Given the description of an element on the screen output the (x, y) to click on. 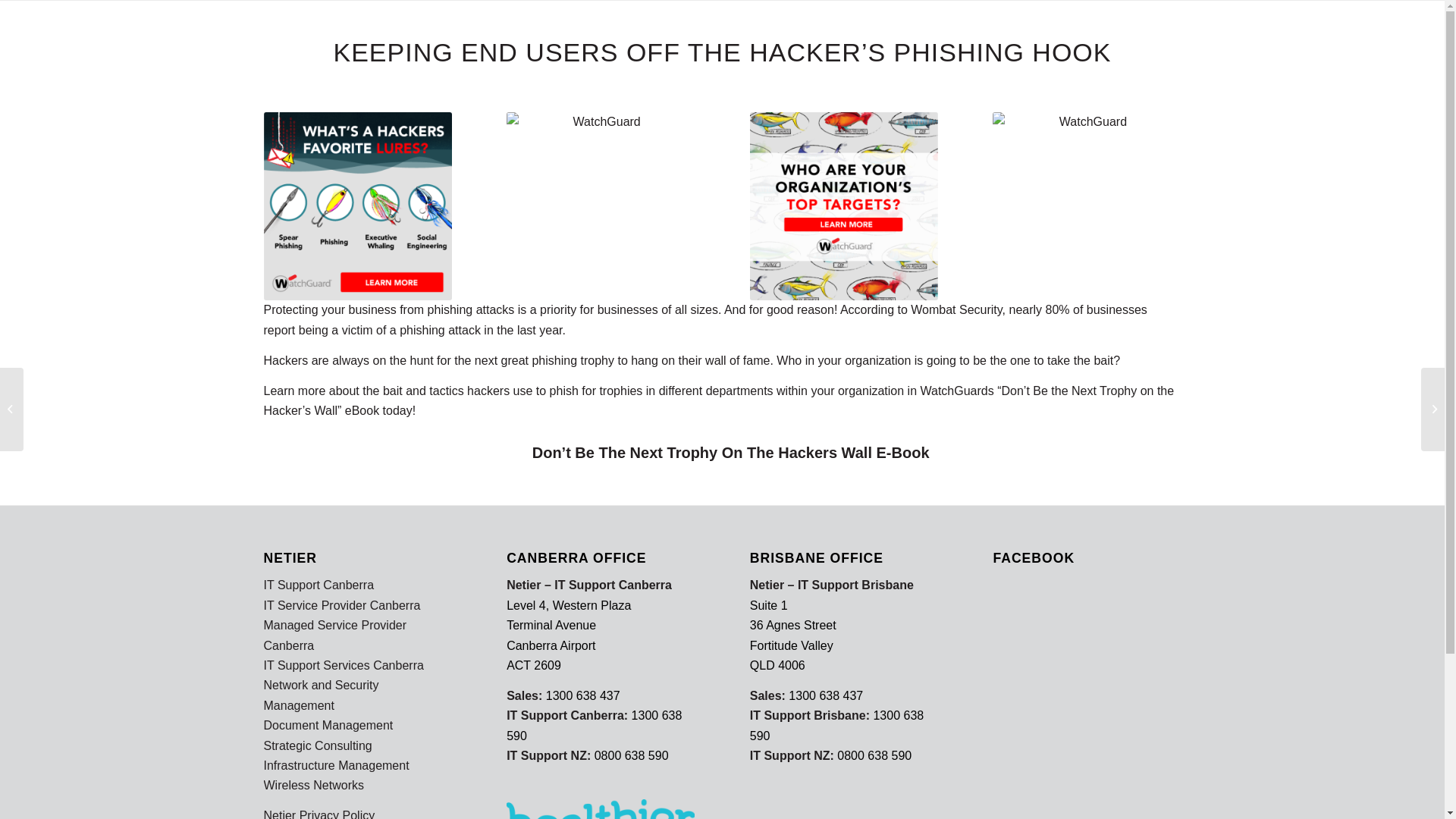
Network and Security Management Element type: text (321, 694)
Wireless Networks Element type: text (313, 784)
IT Support Services Canberra Element type: text (343, 664)
WatchGuard Element type: hover (357, 206)
IT Service Provider Canberra Element type: text (341, 605)
Infrastructure Management Element type: text (336, 765)
WatchGuard Element type: hover (843, 206)
Managed Service Provider Canberra Element type: text (335, 634)
WatchGuard Element type: hover (1086, 206)
WatchGuard Element type: hover (600, 206)
Strategic Consulting Element type: text (317, 745)
IT Support Canberra Element type: text (318, 584)
Document Management Element type: text (328, 724)
